Given the description of an element on the screen output the (x, y) to click on. 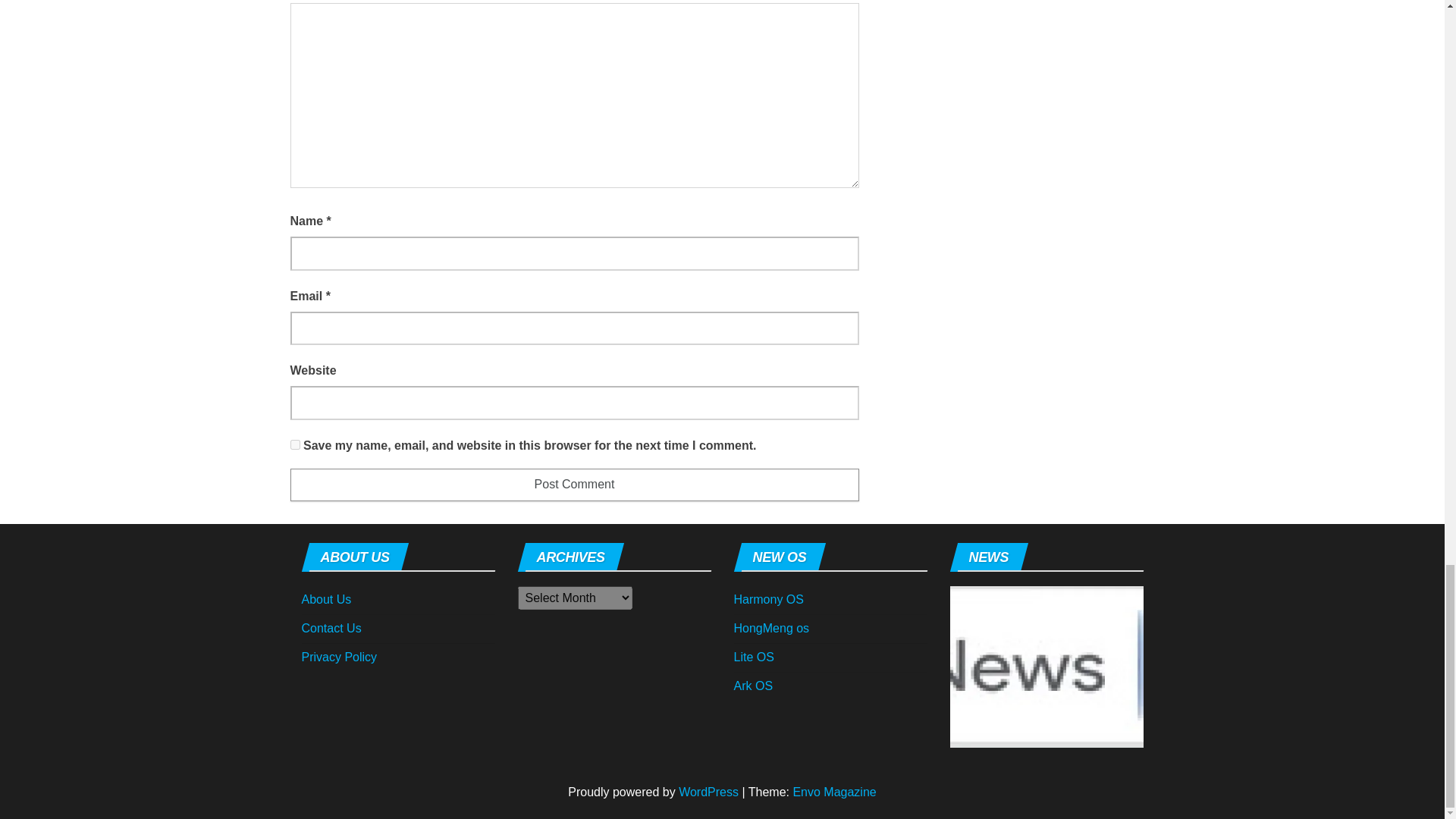
Post Comment (574, 484)
yes (294, 444)
